Given the description of an element on the screen output the (x, y) to click on. 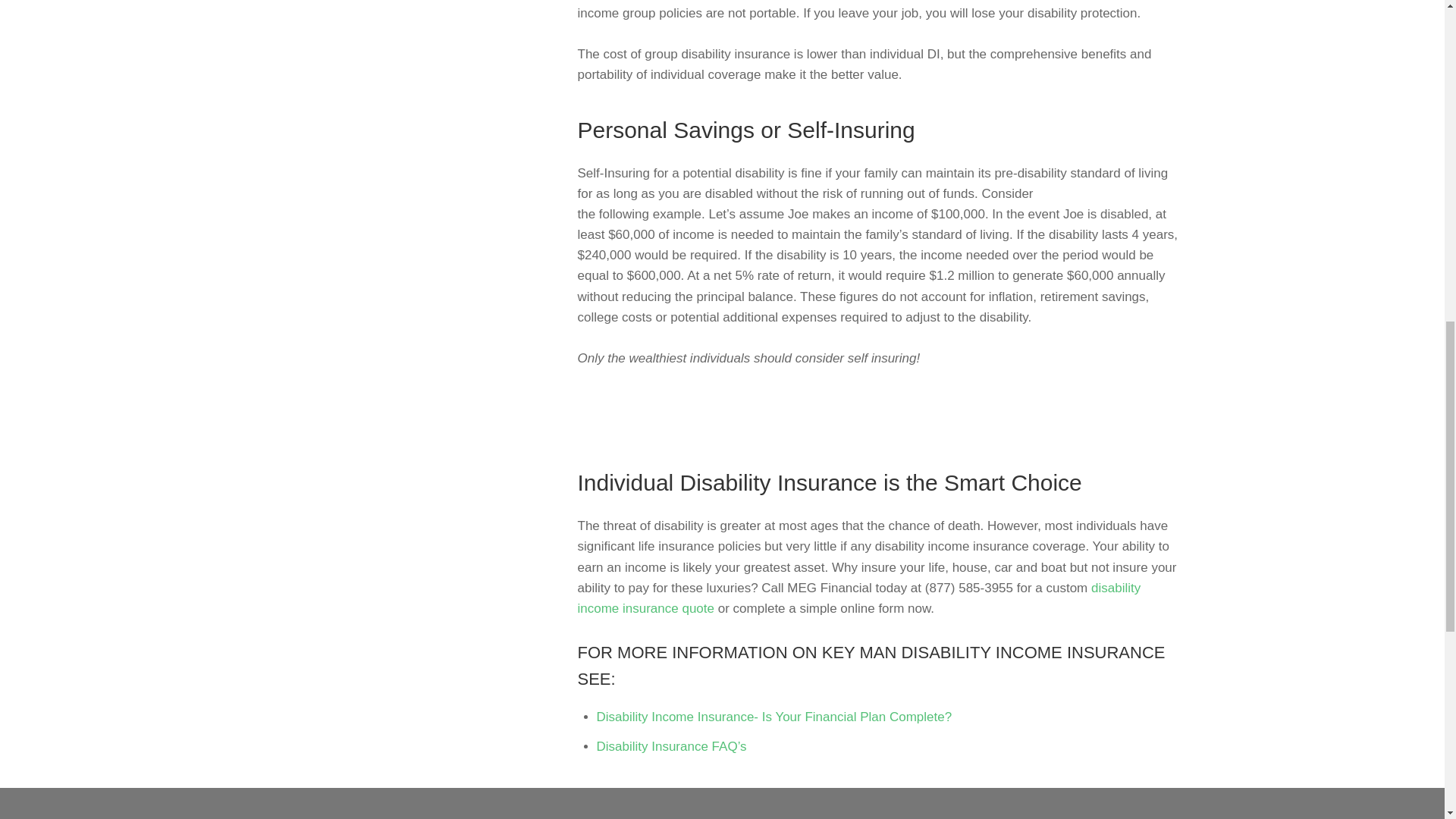
disability income insurance quote (859, 597)
